Given the description of an element on the screen output the (x, y) to click on. 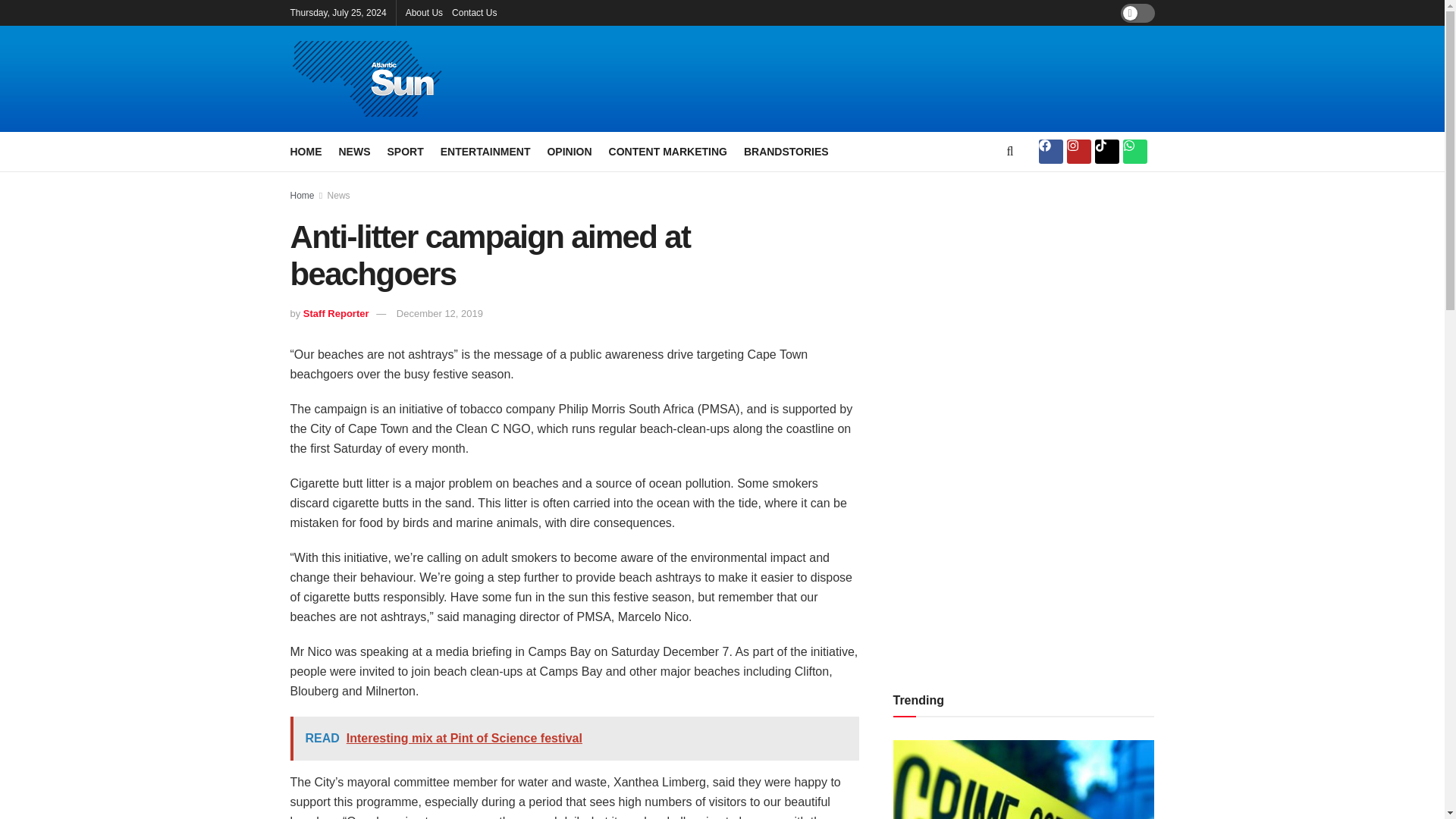
SPORT (405, 151)
About Us (424, 12)
CONTENT MARKETING (667, 151)
OPINION (569, 151)
3rd party ad content (888, 79)
NEWS (353, 151)
Contact Us (473, 12)
HOME (305, 151)
December 12, 2019 (439, 313)
Staff Reporter (335, 313)
BRANDSTORIES (786, 151)
Home (301, 195)
News (338, 195)
READ  Interesting mix at Pint of Science festival (574, 738)
ENTERTAINMENT (486, 151)
